Given the description of an element on the screen output the (x, y) to click on. 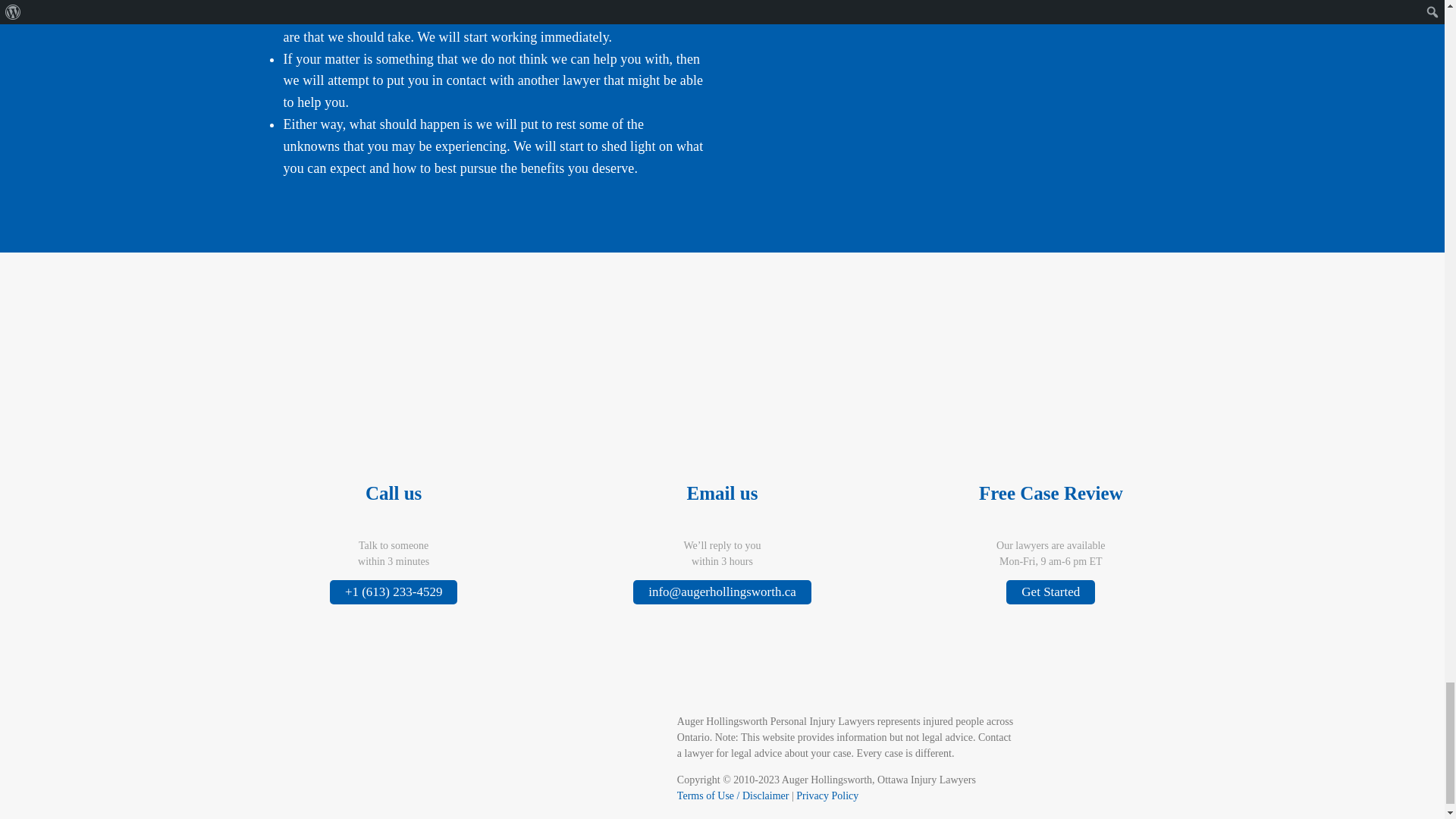
icon-envelop (721, 447)
icon-fastest (393, 416)
icon-phone (393, 447)
